Given the description of an element on the screen output the (x, y) to click on. 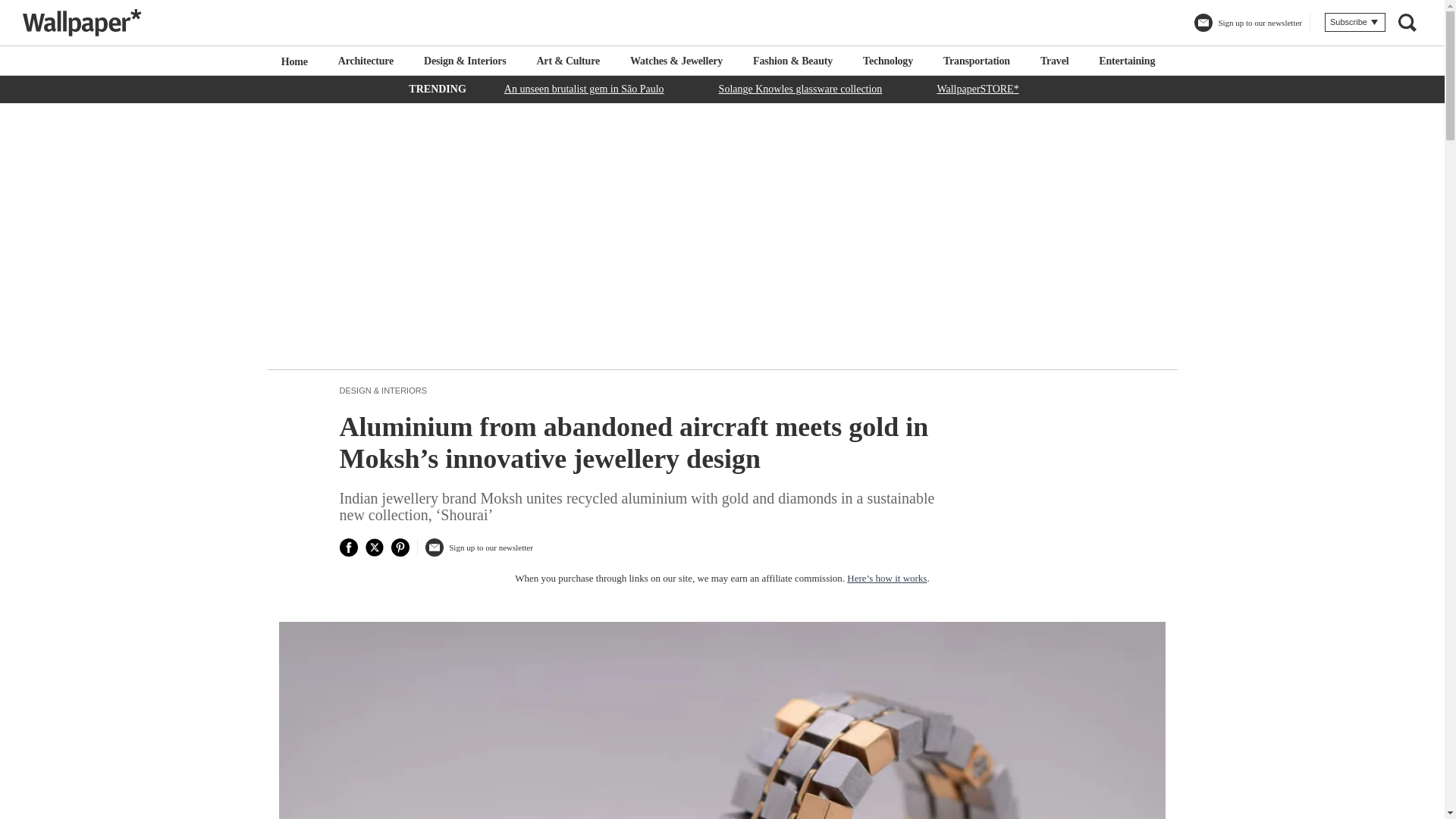
Technology (887, 60)
Entertaining (1126, 60)
Architecture (365, 60)
Sign up to our newsletter (478, 552)
Travel (1054, 60)
Sign up to our newsletter (1247, 28)
Solange Knowles glassware collection (800, 88)
Transportation (976, 60)
